Given the description of an element on the screen output the (x, y) to click on. 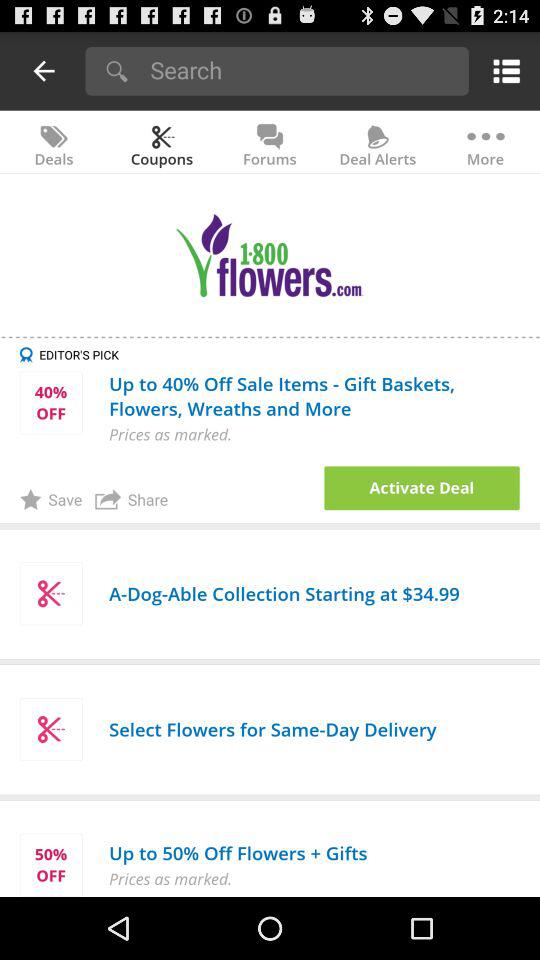
menu options (502, 70)
